Given the description of an element on the screen output the (x, y) to click on. 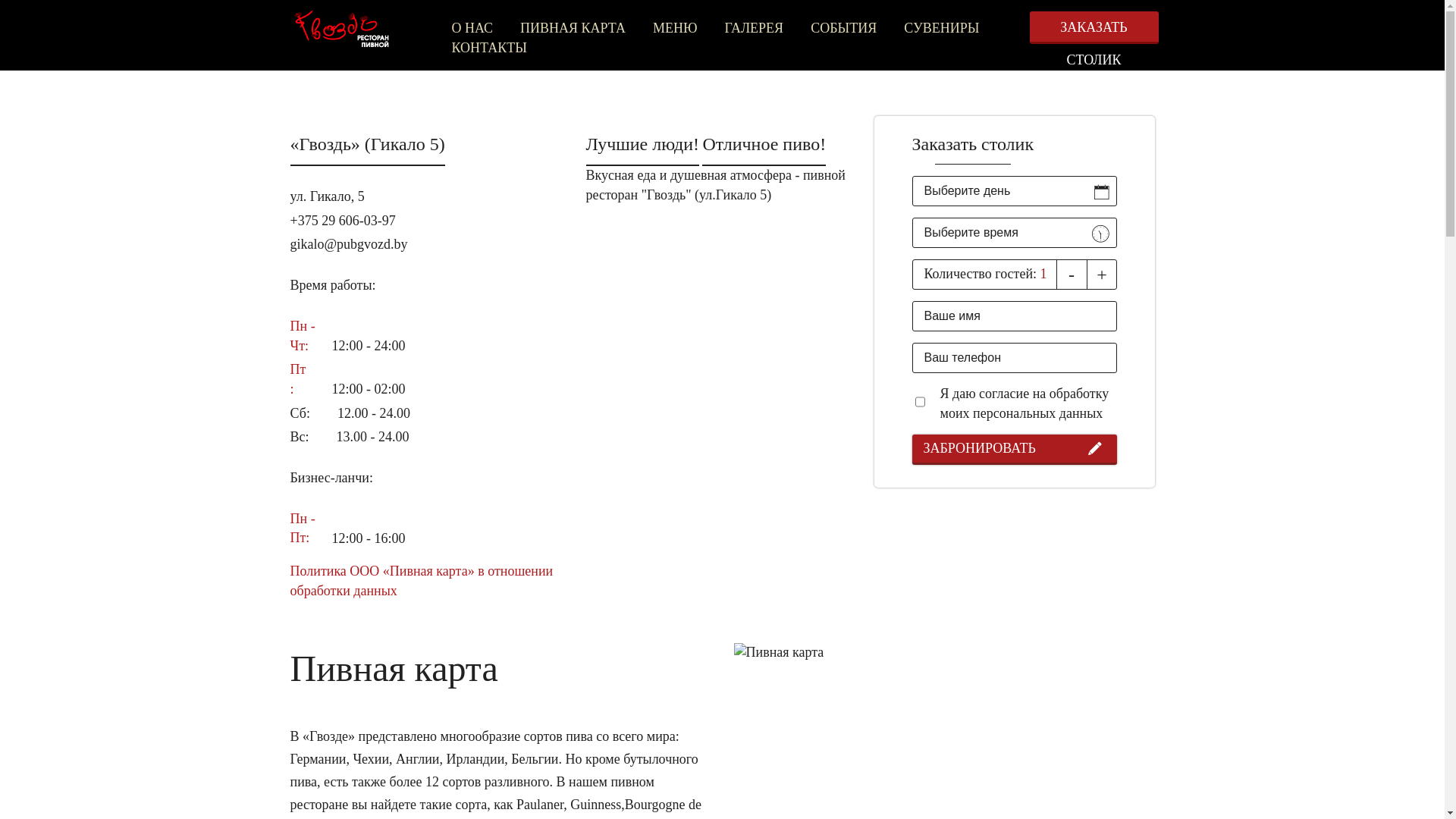
+375 29 606-03-97 Element type: text (342, 220)
gikalo@pubgvozd.by Element type: text (348, 243)
